Given the description of an element on the screen output the (x, y) to click on. 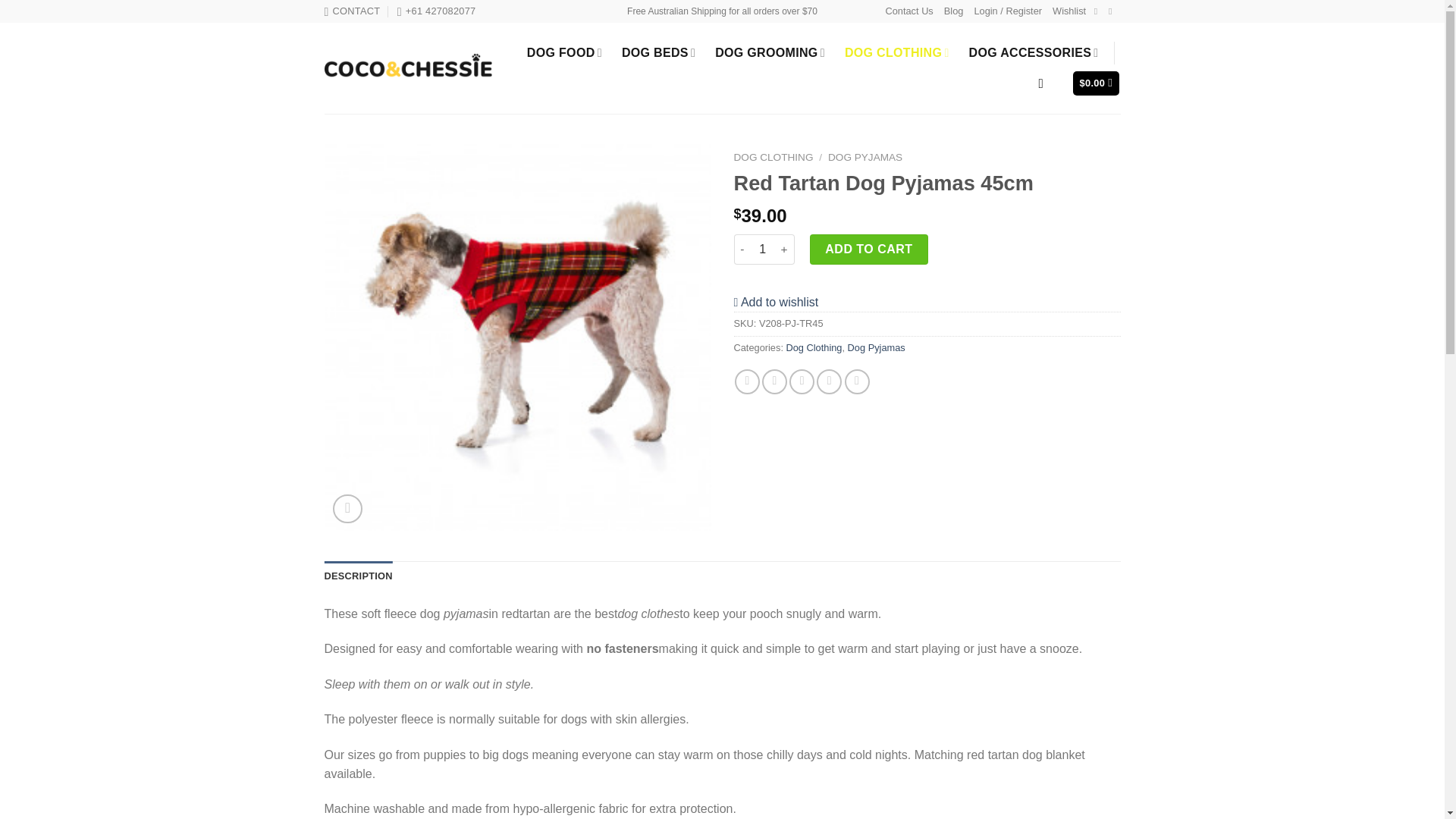
Wishlist (1069, 11)
DOG GROOMING (769, 52)
Contact Us (909, 11)
DOG FOOD (564, 52)
Zoom (347, 509)
CONTACT (352, 11)
DOG BEDS (658, 52)
DOG ACCESSORIES (1034, 52)
Cart (1096, 83)
Share on Facebook (747, 381)
DOG CLOTHING (896, 52)
